Given the description of an element on the screen output the (x, y) to click on. 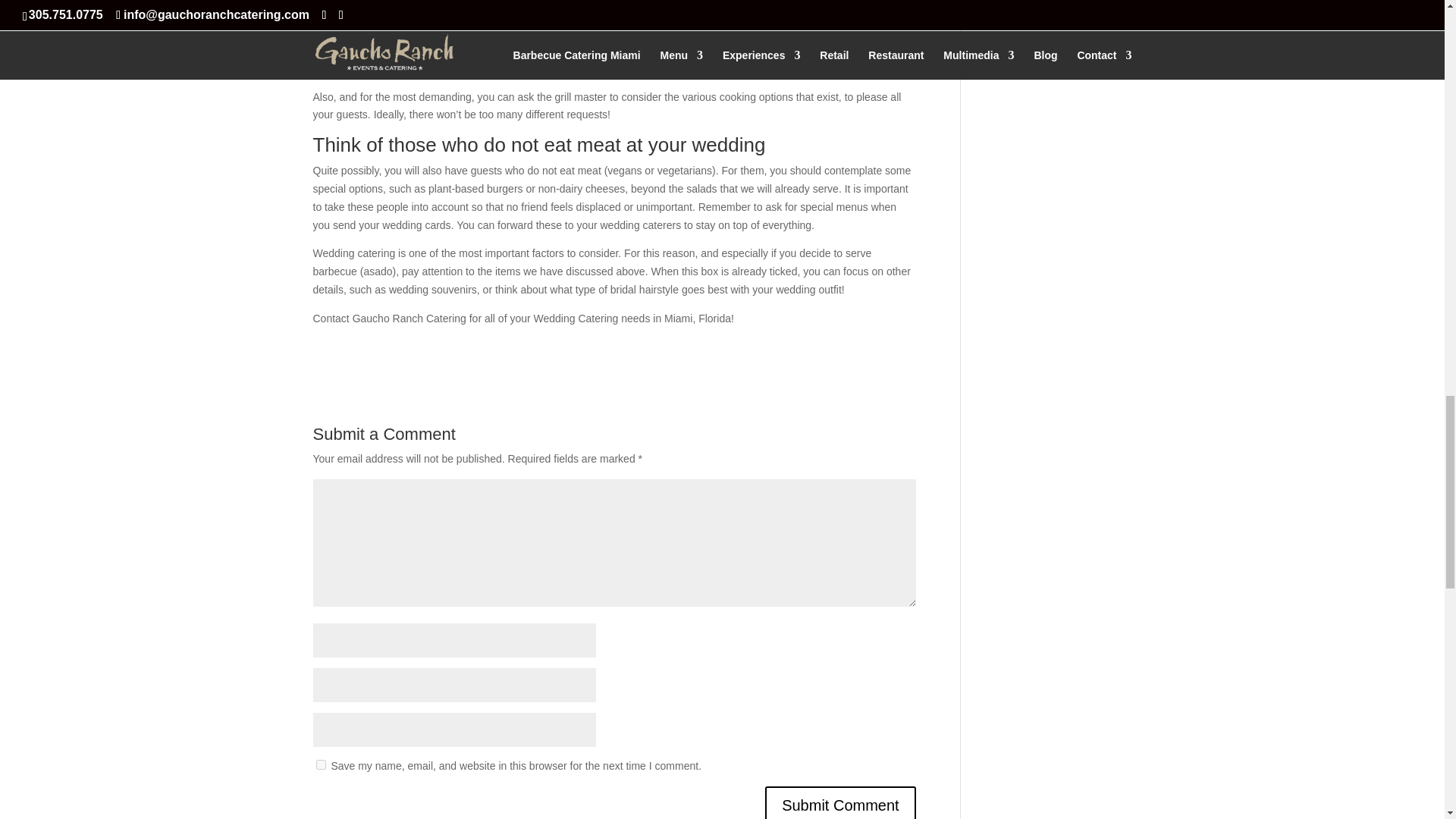
Submit Comment (840, 802)
yes (319, 764)
